Given the description of an element on the screen output the (x, y) to click on. 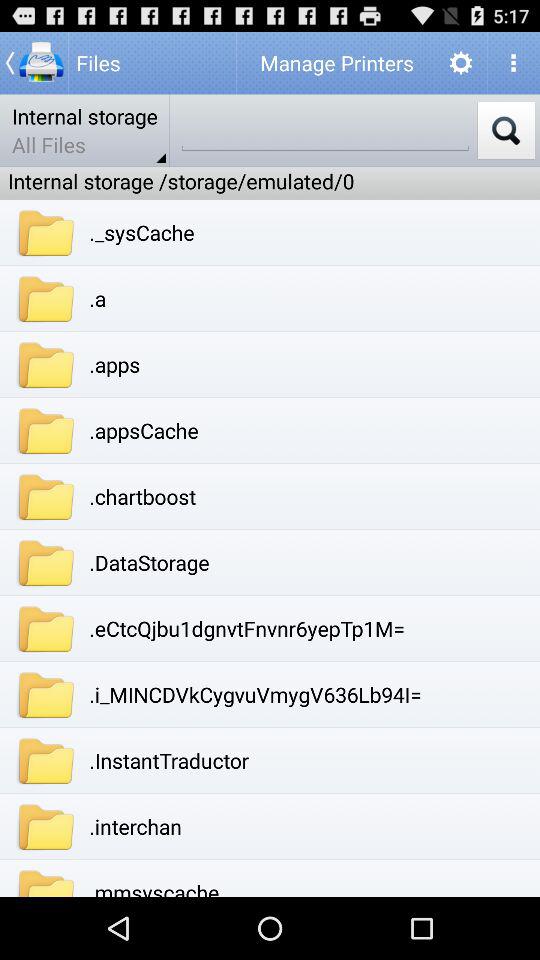
tap .mmsyscache (154, 887)
